Given the description of an element on the screen output the (x, y) to click on. 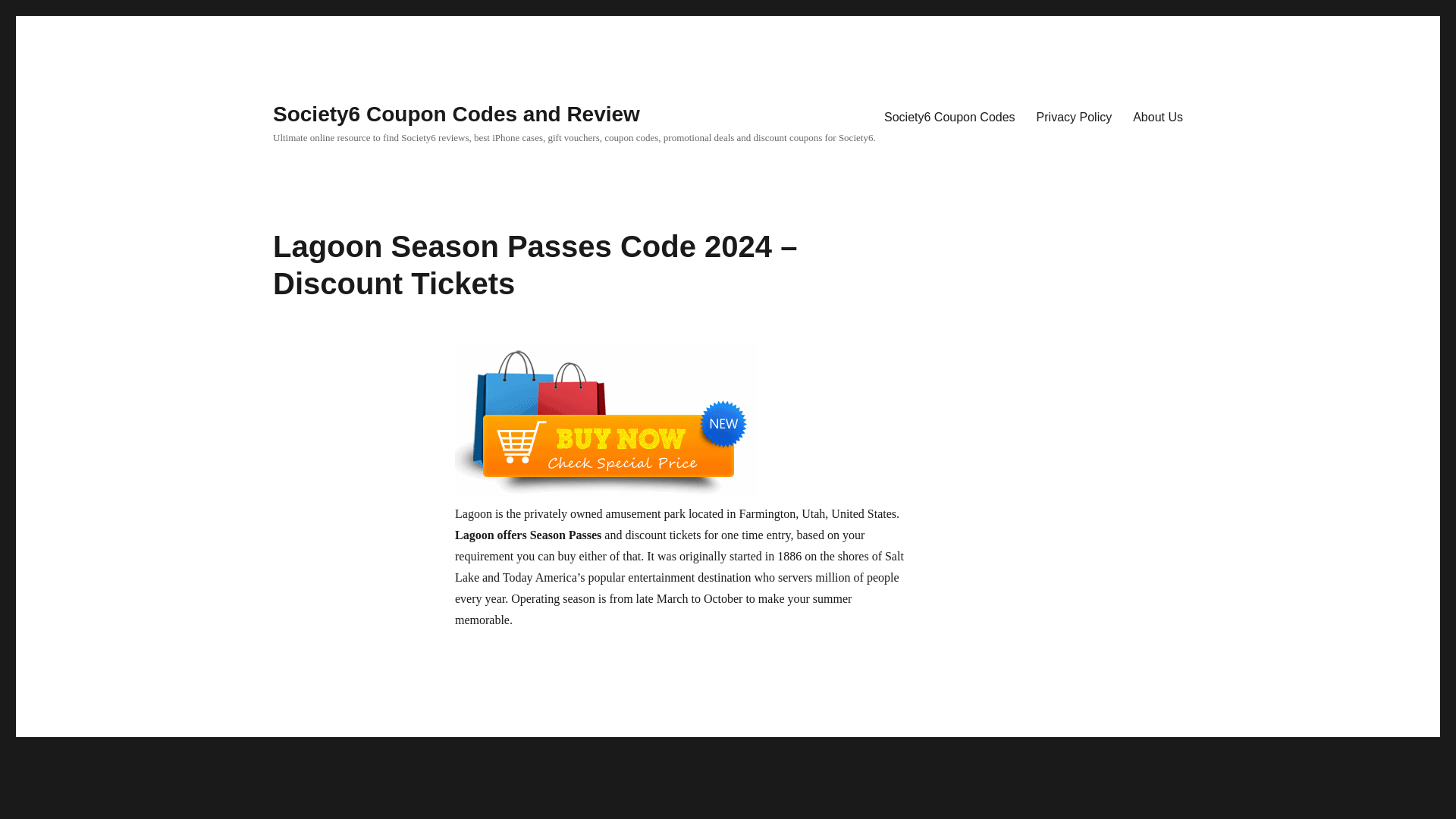
Privacy Policy (1074, 116)
Society6 Coupon Codes (949, 116)
Society6 Coupon Codes and Review (456, 114)
About Us (1157, 116)
